Given the description of an element on the screen output the (x, y) to click on. 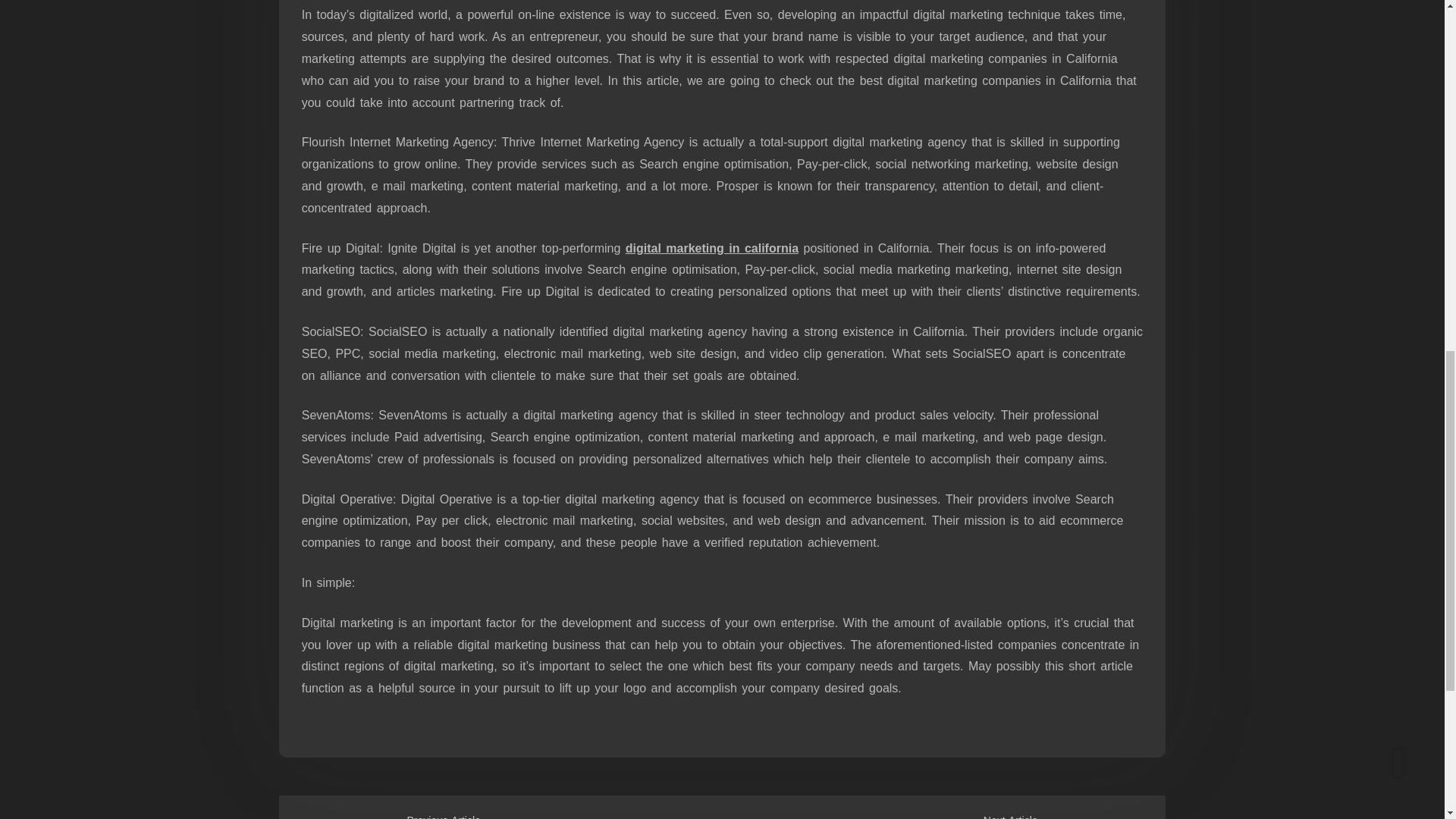
digital marketing in california (711, 247)
